Given the description of an element on the screen output the (x, y) to click on. 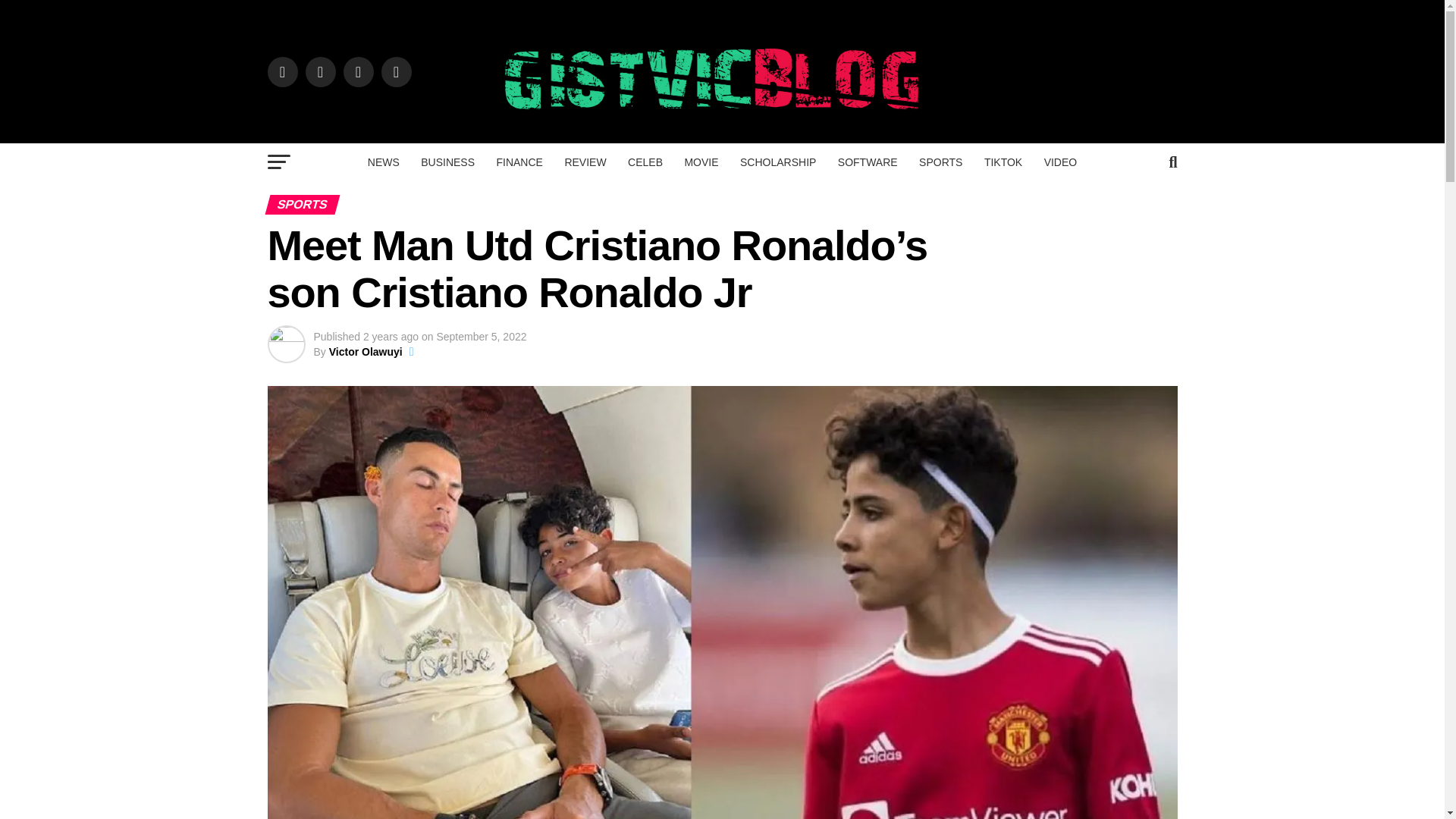
NEWS (383, 161)
FINANCE (518, 161)
Posts by Victor Olawuyi (366, 351)
BUSINESS (447, 161)
